Given the description of an element on the screen output the (x, y) to click on. 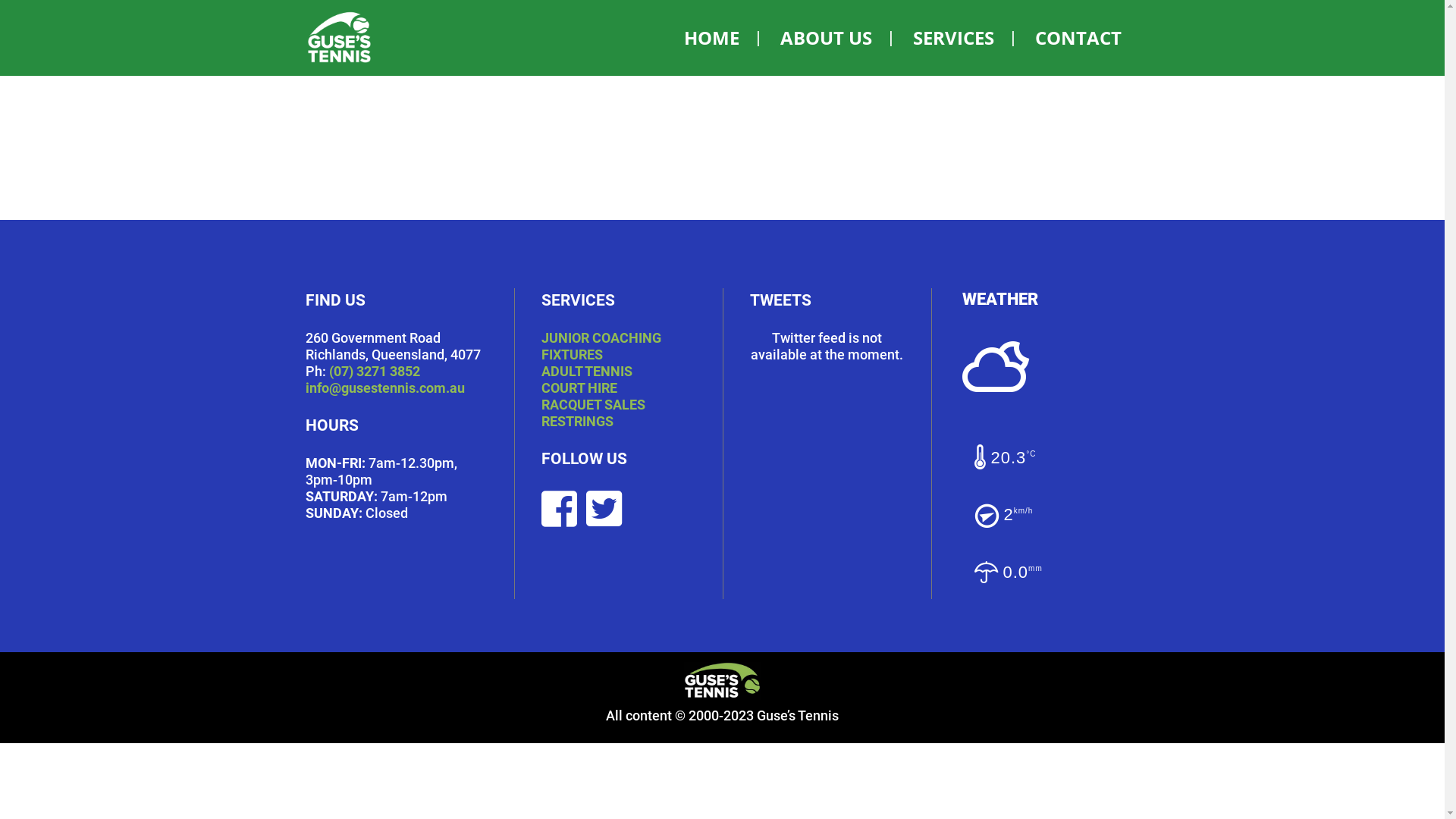
ABOUT US Element type: text (825, 37)
JUNIOR COACHING Element type: text (601, 337)
SERVICES Element type: text (953, 37)
HOME Element type: text (711, 37)
Current weather conditions Element type: hover (1050, 371)
info@gusestennis.com.au Element type: text (384, 387)
CONTACT Element type: text (1077, 37)
(07) 3271 3852 Element type: text (374, 371)
RACQUET SALES Element type: text (593, 404)
RESTRINGS Element type: text (577, 421)
COURT HIRE Element type: text (579, 387)
ADULT TENNIS Element type: text (586, 371)
FIXTURES Element type: text (571, 354)
